Given the description of an element on the screen output the (x, y) to click on. 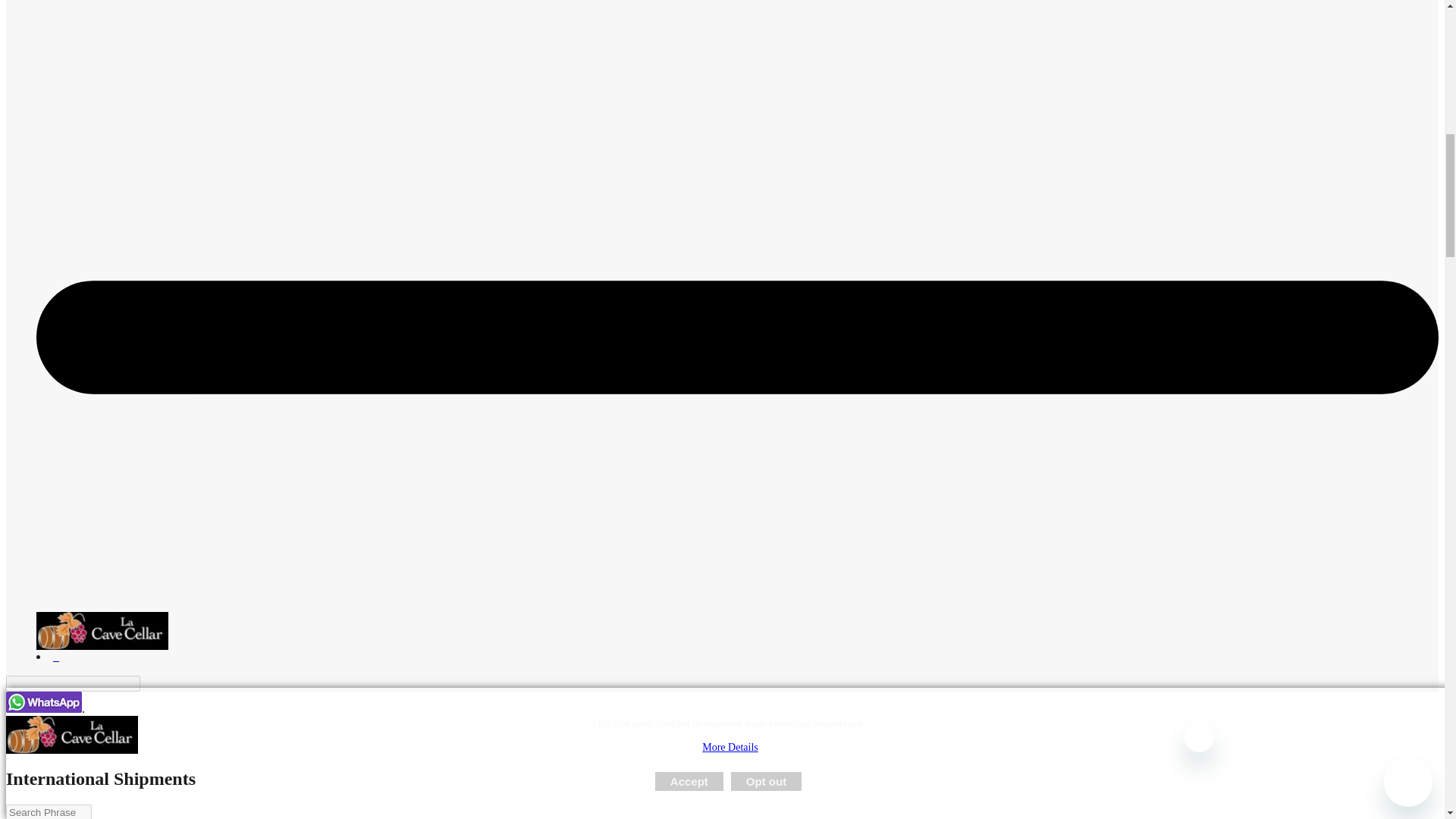
Find (148, 683)
